Given the description of an element on the screen output the (x, y) to click on. 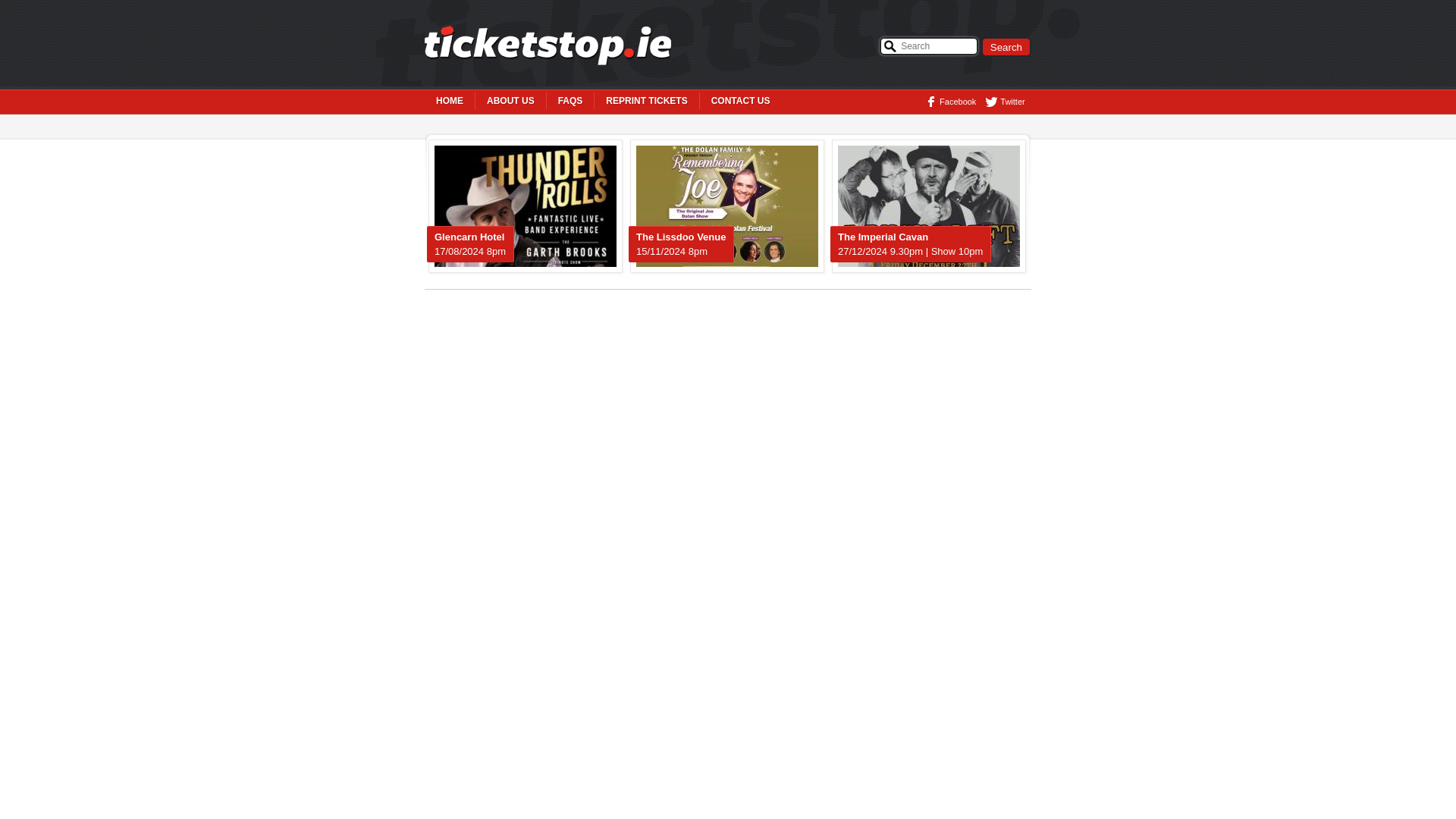
CONTACT US (740, 100)
Twitter (1001, 101)
Facebook (946, 101)
ABOUT US (511, 100)
FAQS (571, 100)
Search (1005, 46)
REPRINT TICKETS (646, 100)
HOME (450, 100)
Search (1005, 46)
